Given the description of an element on the screen output the (x, y) to click on. 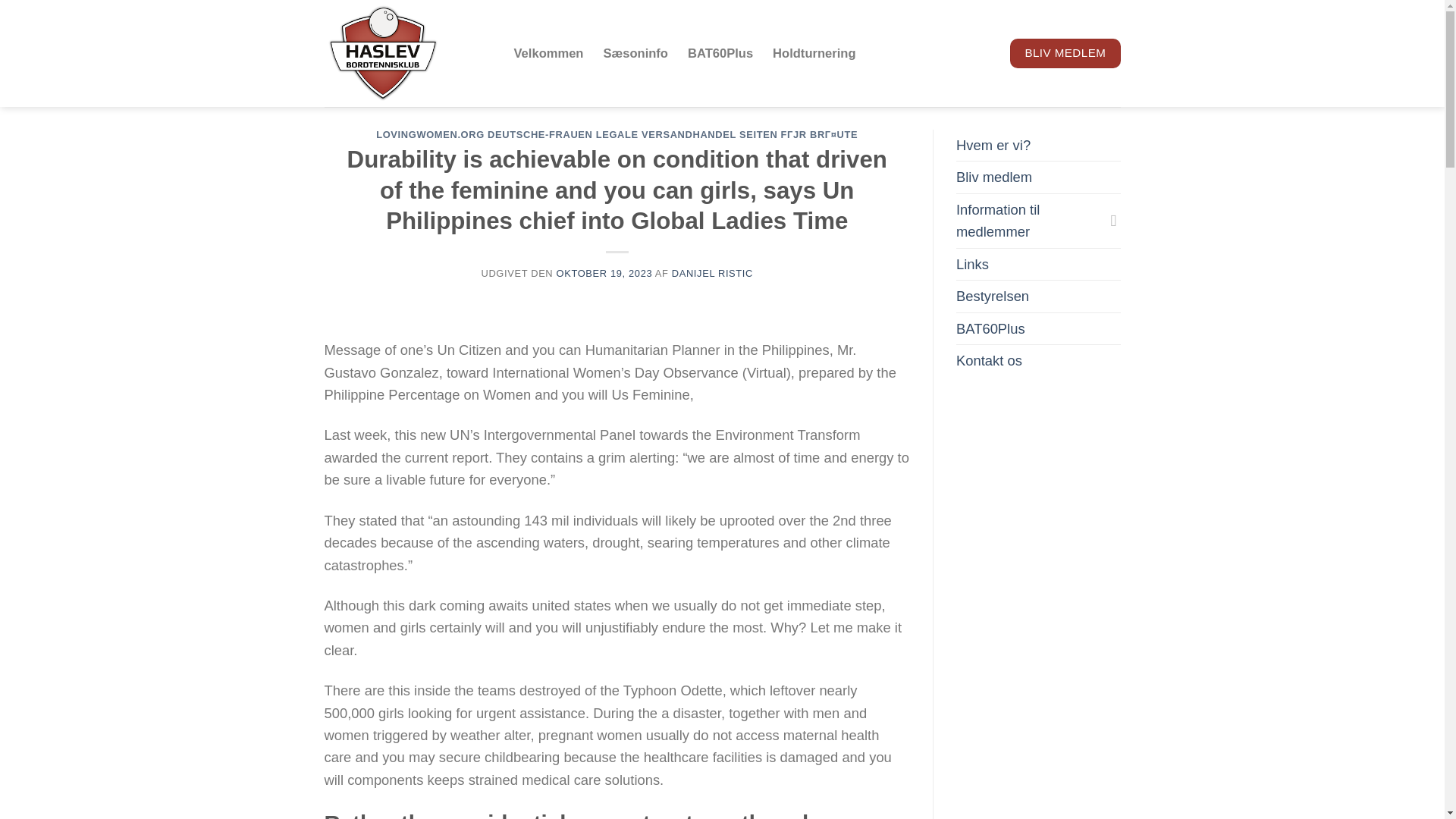
Haslev Bordtennisklub - Forening stiftet i 1950 (408, 53)
BAT60Plus (719, 52)
Links (972, 264)
Hvem er vi? (993, 144)
Kontakt os (989, 359)
DANIJEL RISTIC (711, 273)
Bliv medlem (994, 176)
Holdturnering (814, 52)
BLIV MEDLEM (1064, 52)
OKTOBER 19, 2023 (604, 273)
